Given the description of an element on the screen output the (x, y) to click on. 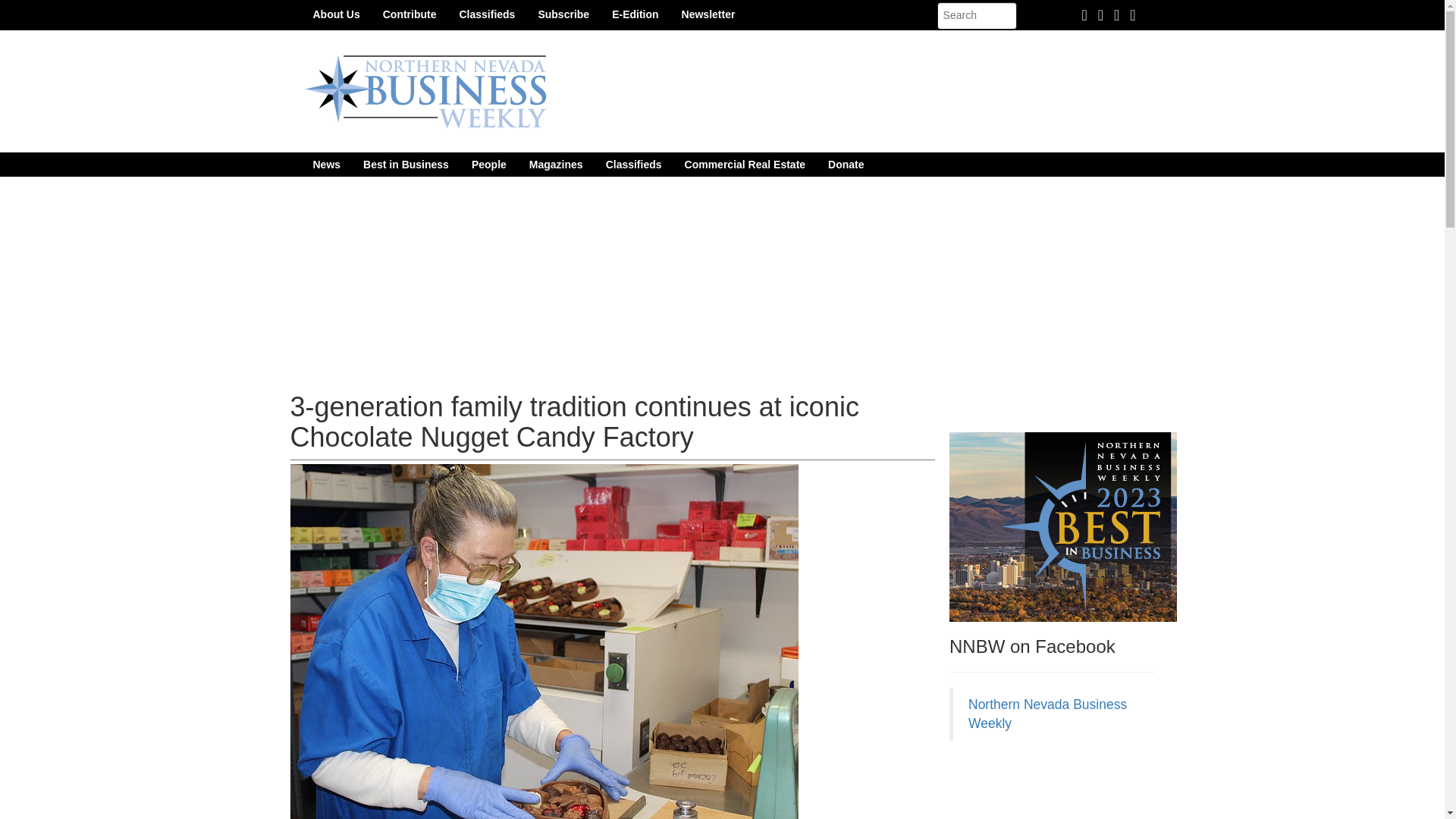
Classifieds (633, 164)
Donate (845, 164)
Magazines (556, 164)
Contribute (409, 14)
Newsletter (707, 14)
Commercial Real Estate (744, 164)
News (326, 164)
About Us (336, 14)
Subscribe (562, 14)
Best in Business (406, 164)
3rd party ad content (1062, 787)
People (489, 164)
Classifieds (485, 14)
E-Edition (634, 14)
